Given the description of an element on the screen output the (x, y) to click on. 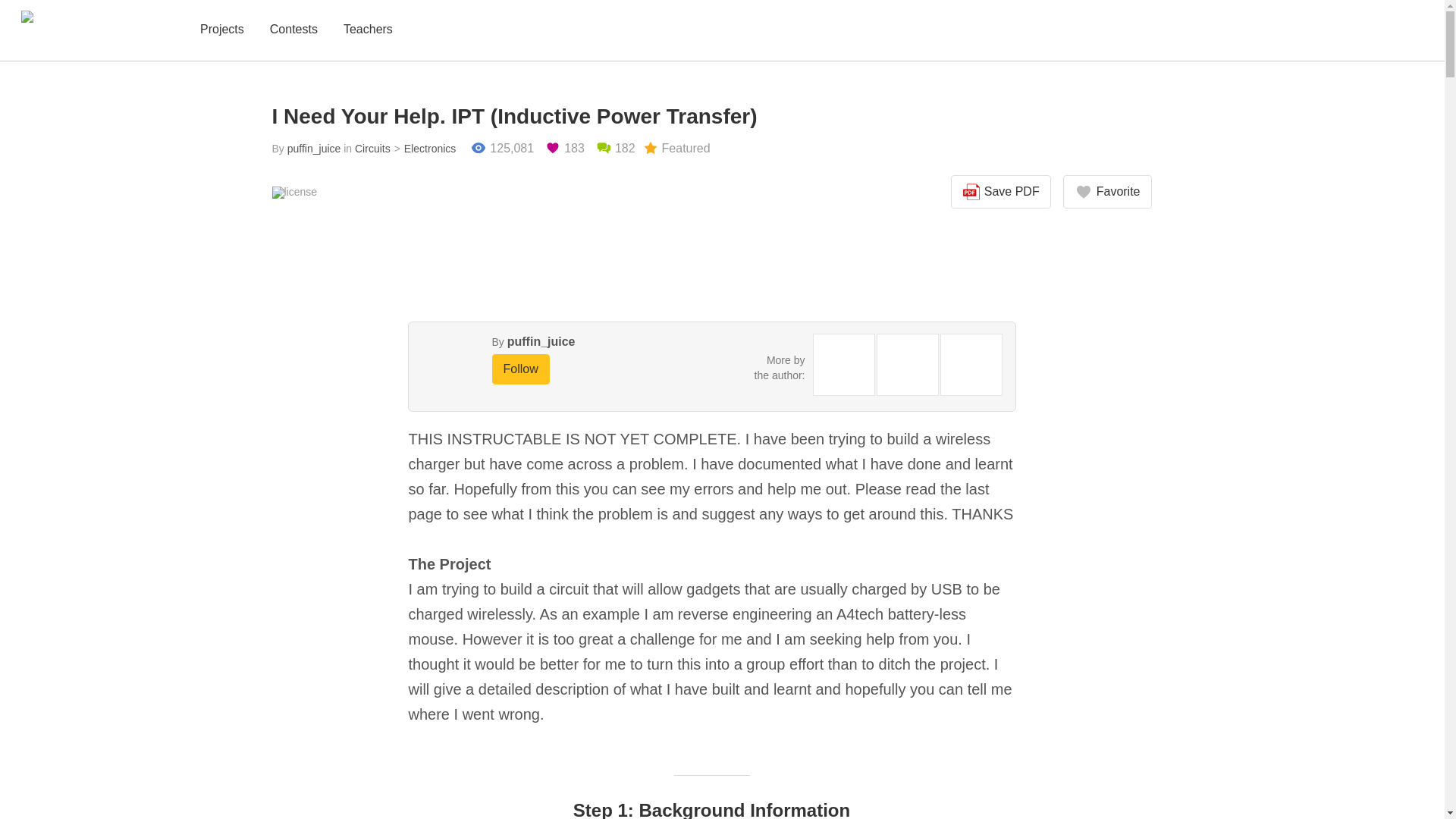
182 (614, 148)
Follow (520, 368)
Teachers (368, 30)
Circuits (372, 148)
Save PDF (1000, 191)
Favorite (1106, 191)
Projects (221, 30)
Contests (293, 30)
Electronics (423, 148)
More by the author: (779, 366)
